Given the description of an element on the screen output the (x, y) to click on. 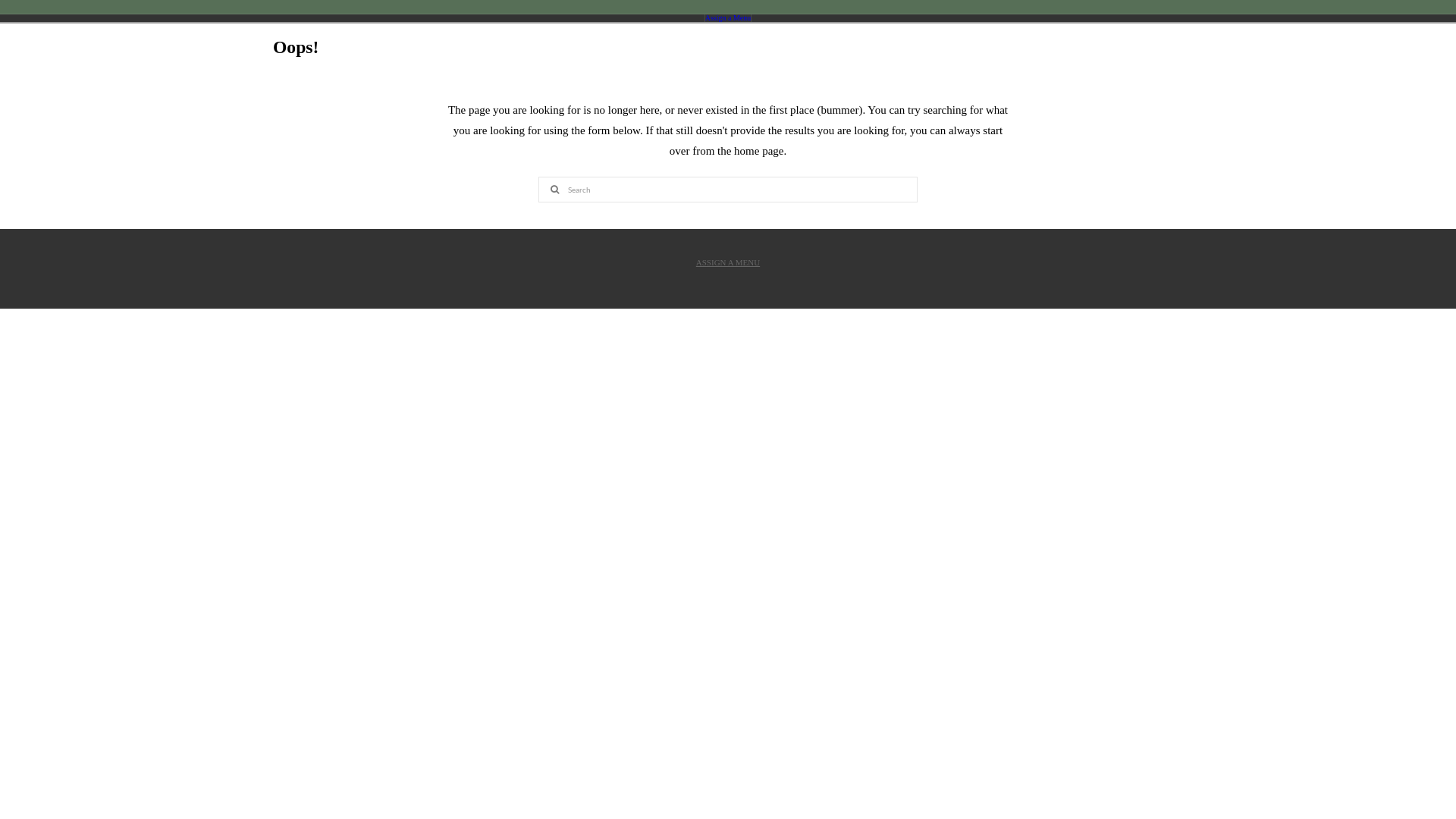
Assign a Menu Element type: text (728, 17)
ASSIGN A MENU Element type: text (727, 262)
